Given the description of an element on the screen output the (x, y) to click on. 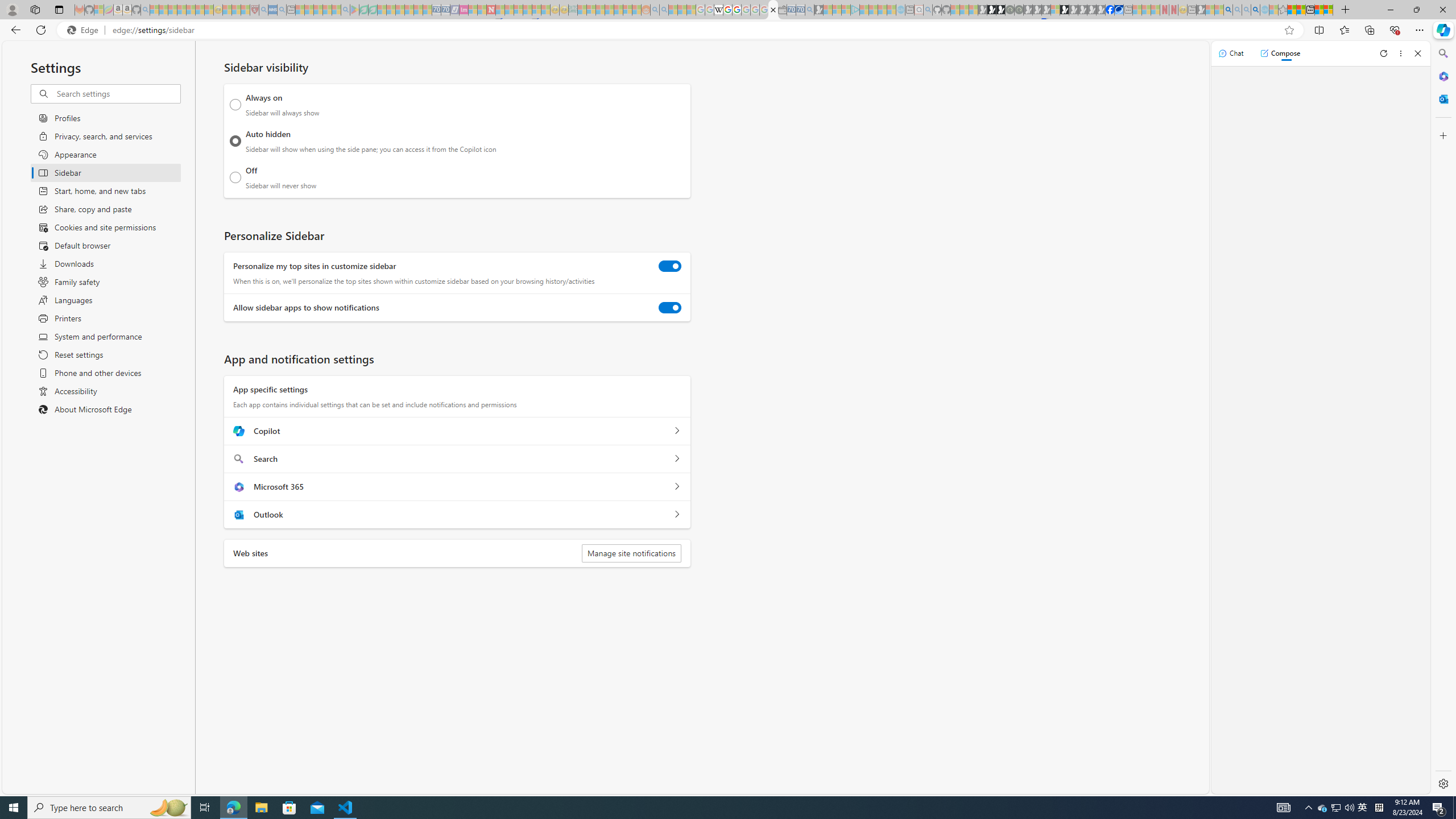
Search settings (117, 93)
Expert Portfolios - Sleeping (608, 9)
Aberdeen, Hong Kong SAR weather forecast | Microsoft Weather (1300, 9)
